Given the description of an element on the screen output the (x, y) to click on. 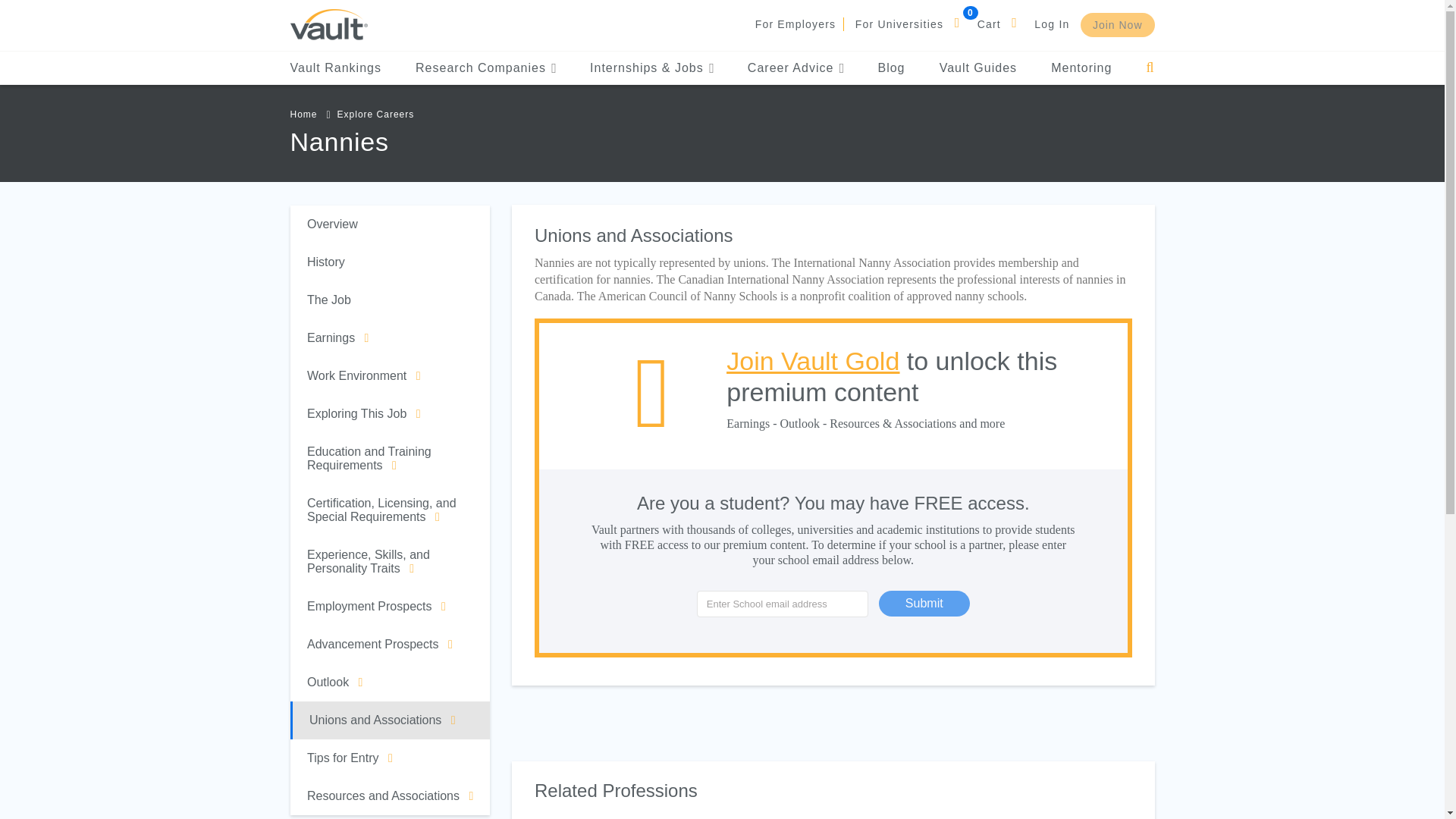
Join Now (1117, 24)
Log In (1050, 24)
For Universities (899, 24)
For Employers (795, 24)
Vault Rankings (334, 67)
Cart (988, 24)
